Given the description of an element on the screen output the (x, y) to click on. 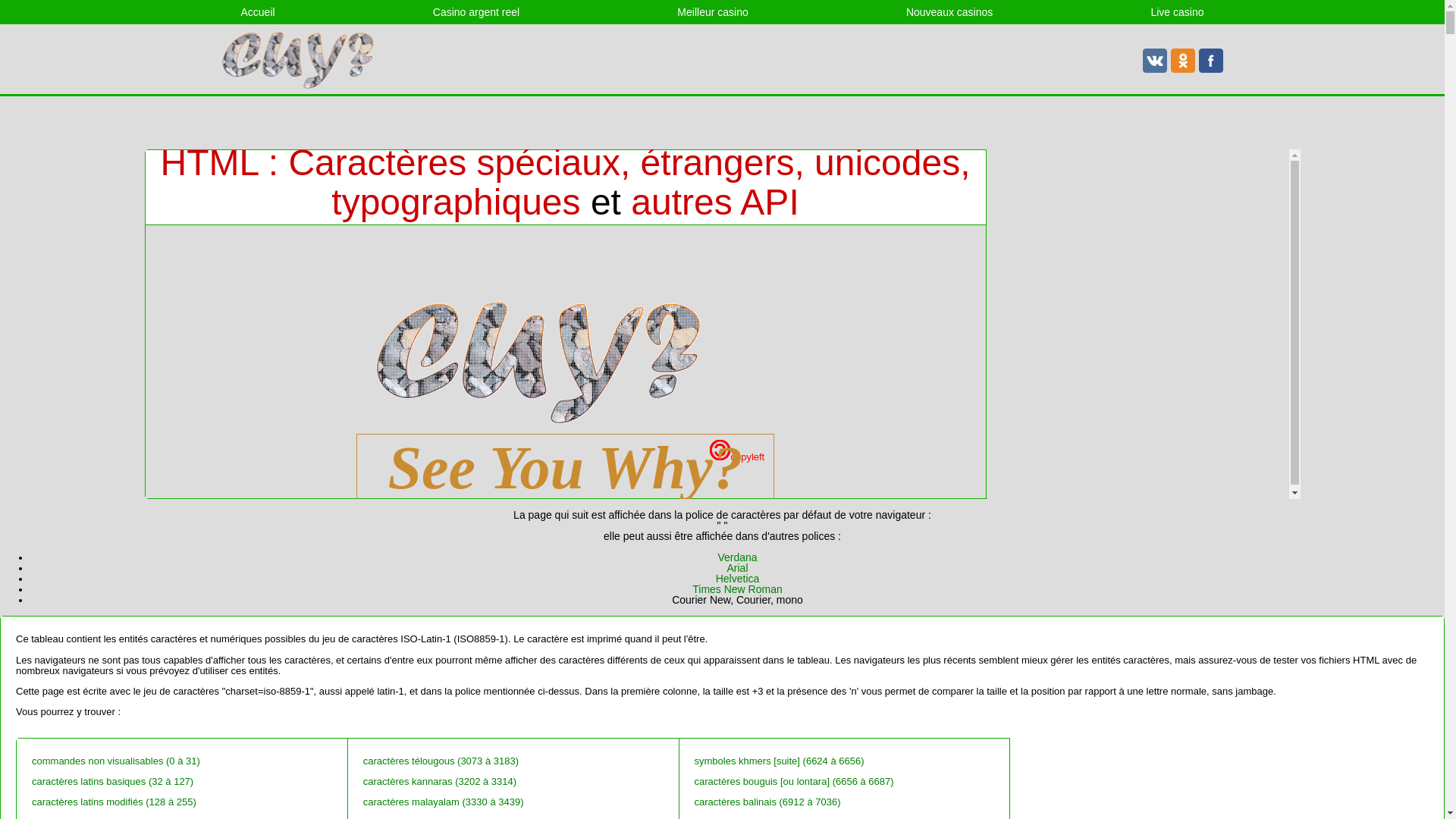
Verdana Element type: text (736, 557)
Casino argent reel Element type: text (476, 11)
Meilleur casino Element type: text (712, 11)
copyleft Element type: text (736, 456)
Helvetica Element type: text (737, 578)
Nouveaux casinos Element type: text (949, 11)
Live casino Element type: text (1176, 11)
Times New Roman Element type: text (737, 589)
Arial Element type: text (736, 567)
Accueil Element type: text (257, 11)
